Given the description of an element on the screen output the (x, y) to click on. 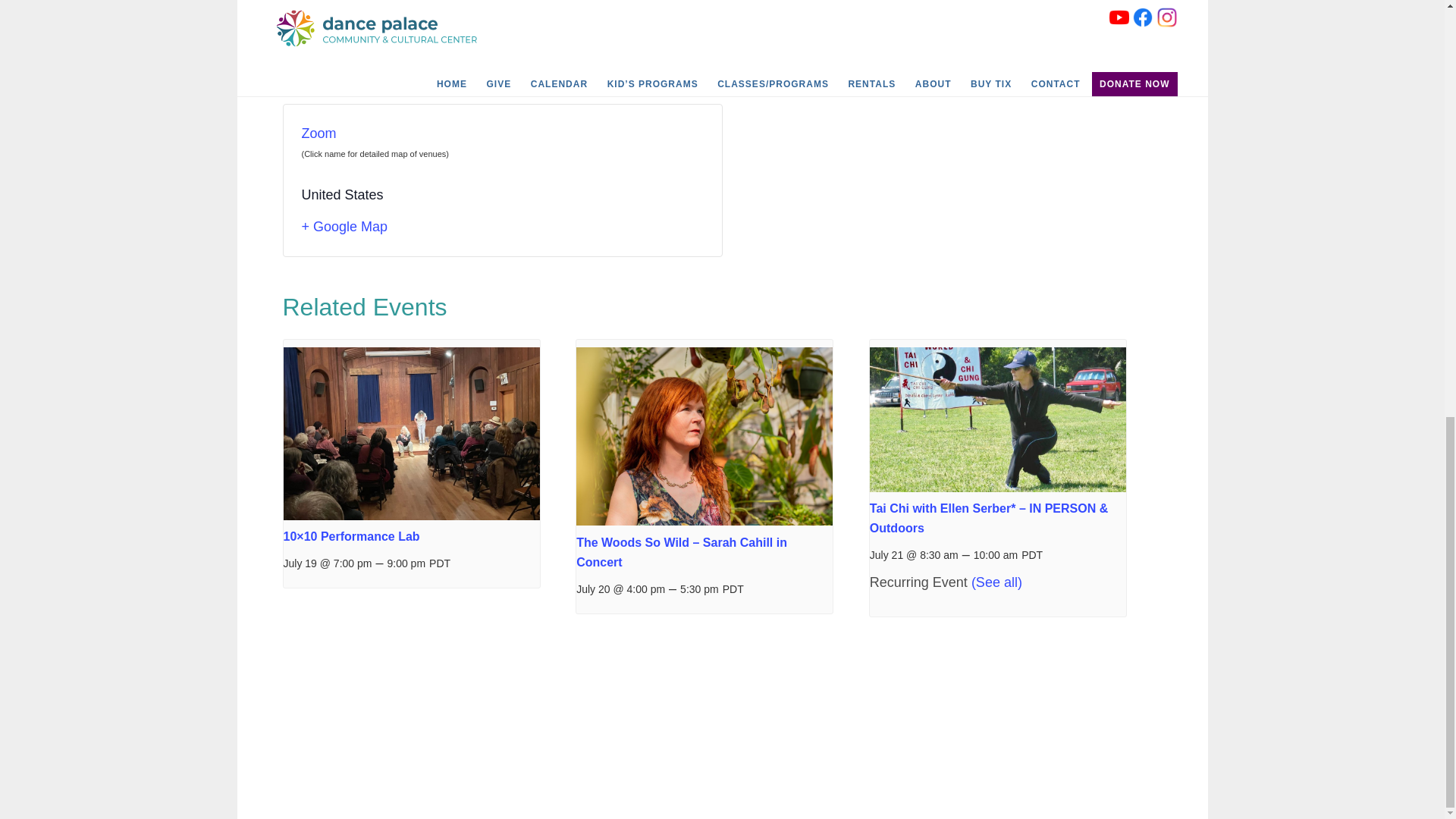
Zoom (318, 133)
Click to view a Google Map (502, 227)
Gina Tanner (319, 43)
